Given the description of an element on the screen output the (x, y) to click on. 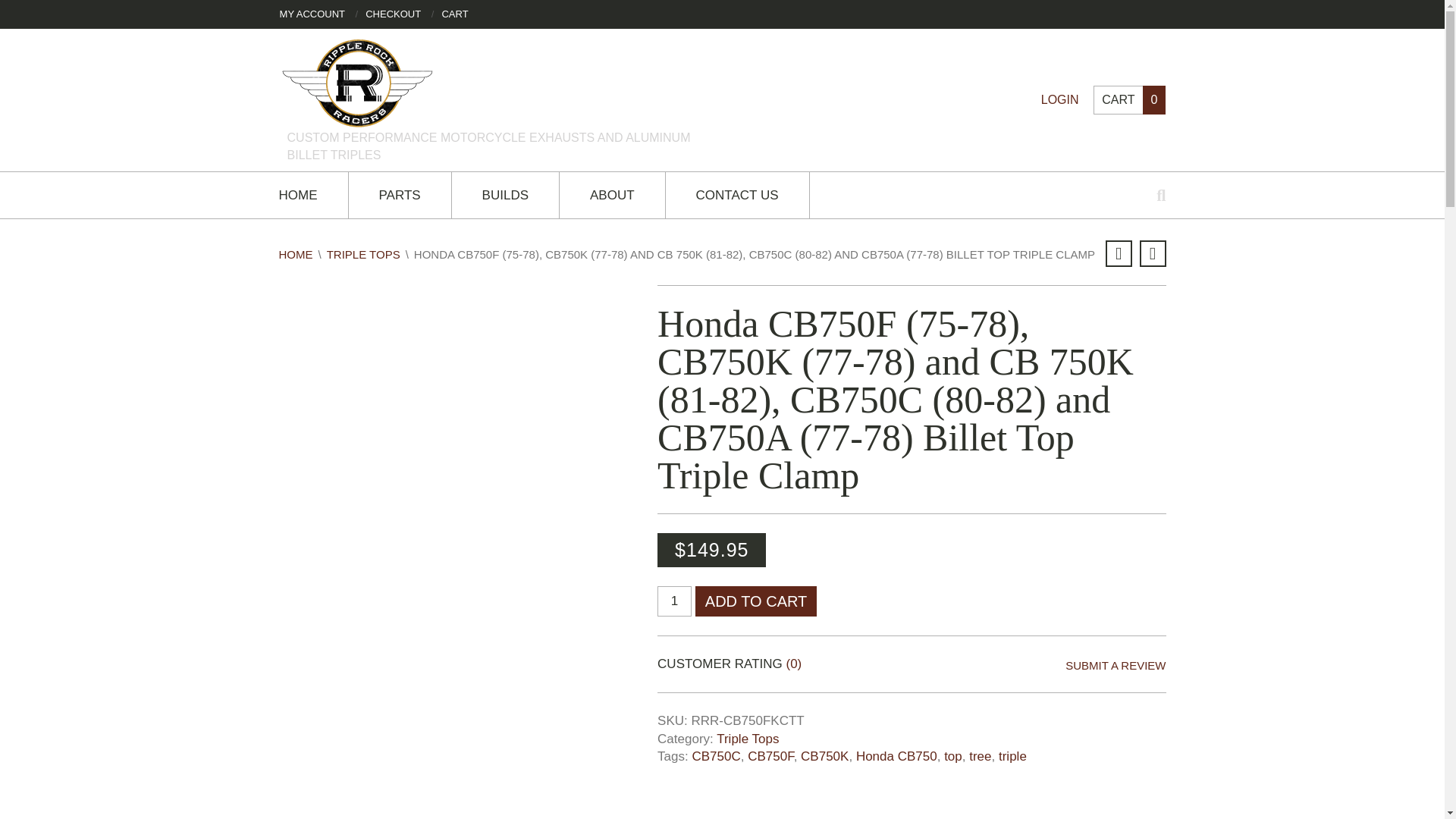
CB750K (824, 756)
HOME (313, 194)
CART (454, 13)
TRIPLE TOPS (363, 254)
LOGIN (1059, 99)
MY ACCOUNT (312, 13)
1 (674, 601)
top (952, 756)
BUILDS (505, 194)
